Given the description of an element on the screen output the (x, y) to click on. 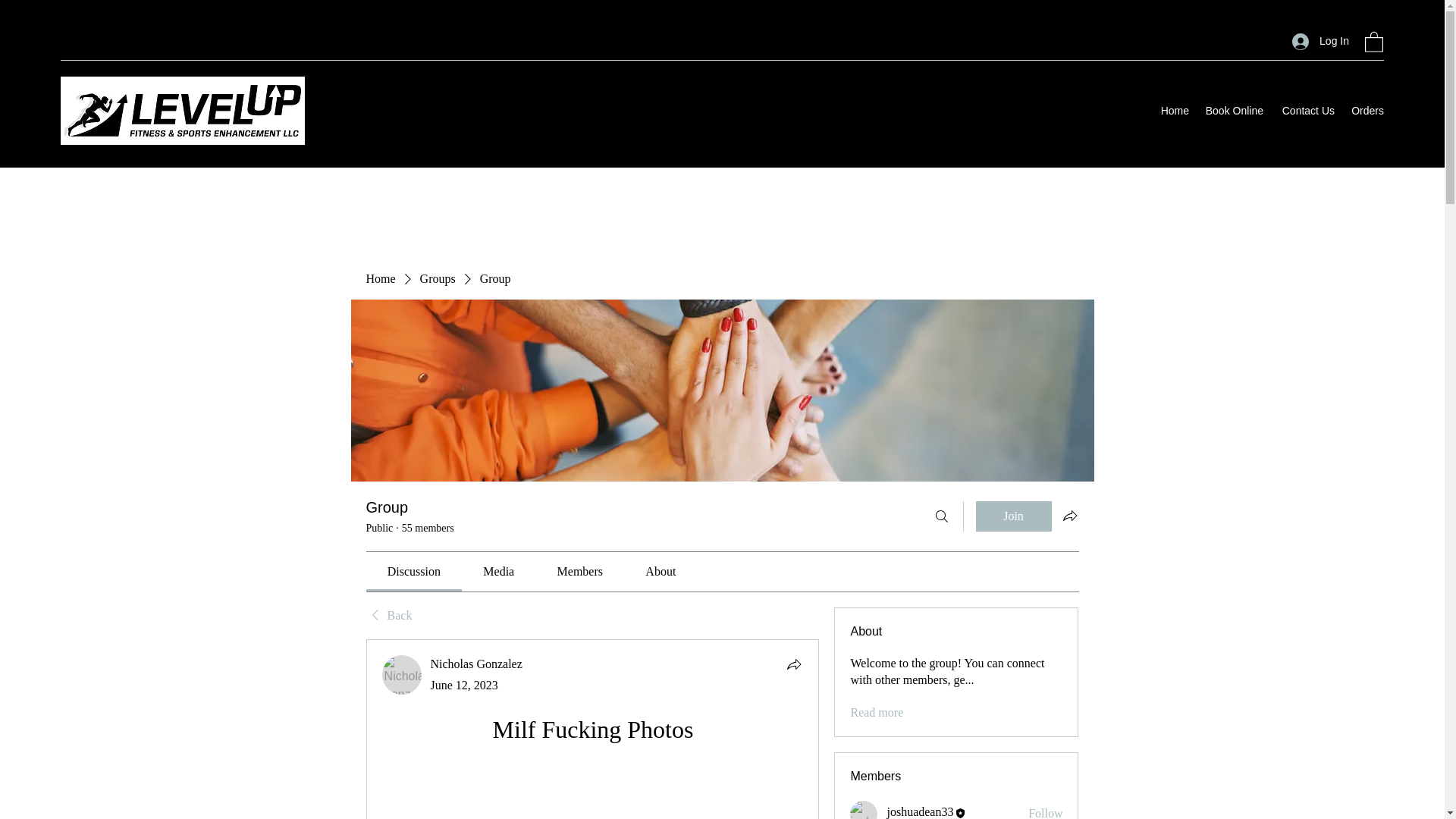
Read more (876, 712)
joshuadean33 (863, 809)
Nicholas Gonzalez (476, 663)
Join (1013, 516)
joshuadean33 (919, 811)
Log In (1320, 41)
Home (379, 279)
joshuadean33 (919, 811)
Groups (437, 279)
Orders (1366, 110)
